Given the description of an element on the screen output the (x, y) to click on. 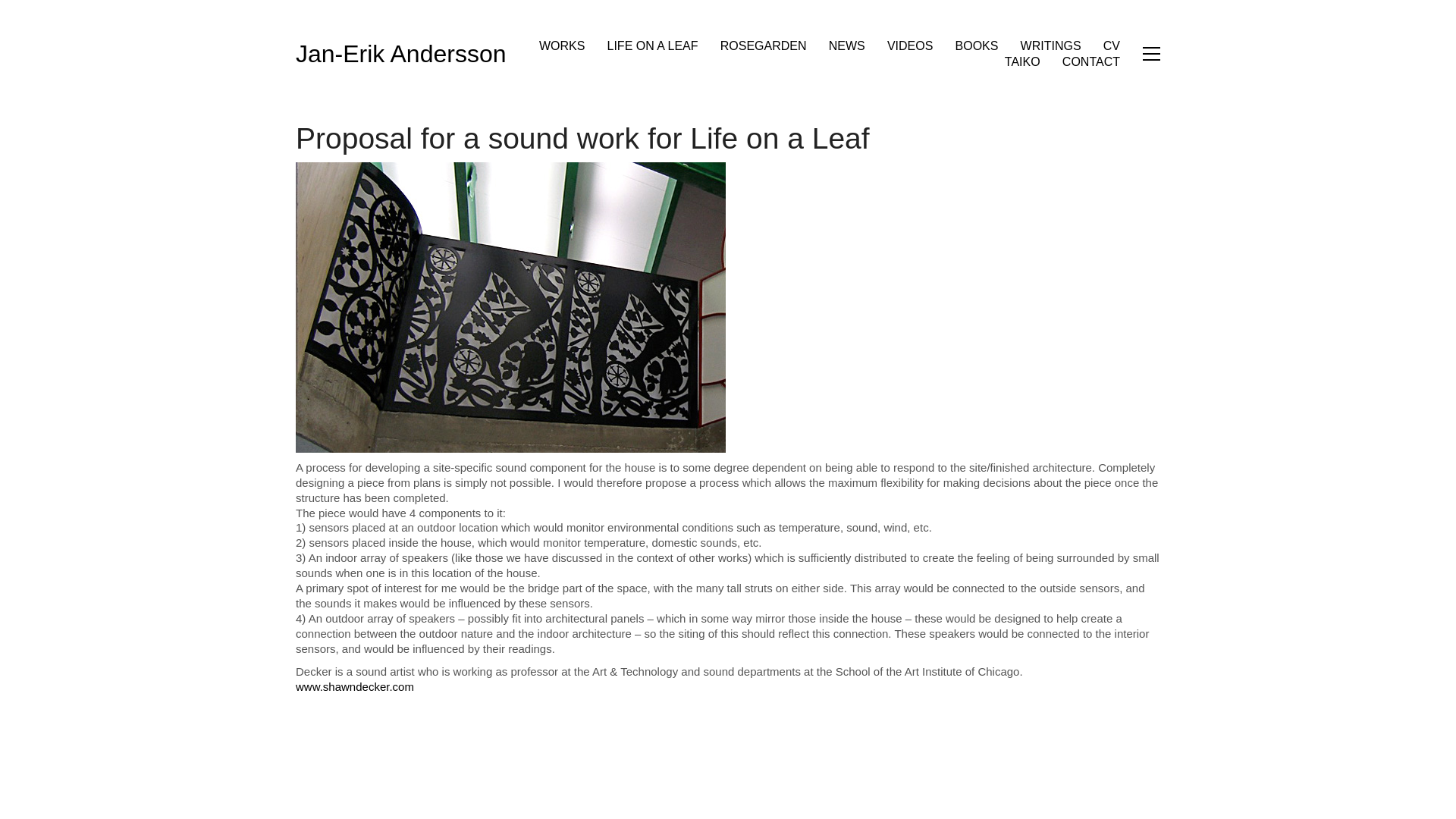
NEWS (846, 45)
www.shawndecker.com (354, 686)
www.shawndecker.com (354, 686)
BOOKS (976, 45)
ROSEGARDEN (763, 45)
CV (1111, 45)
WORKS (561, 45)
VIDEOS (909, 45)
WRITINGS (1050, 45)
Jan-Erik Andersson (400, 53)
LIFE ON A LEAF (652, 45)
TAIKO (1022, 61)
CONTACT (1090, 61)
